Given the description of an element on the screen output the (x, y) to click on. 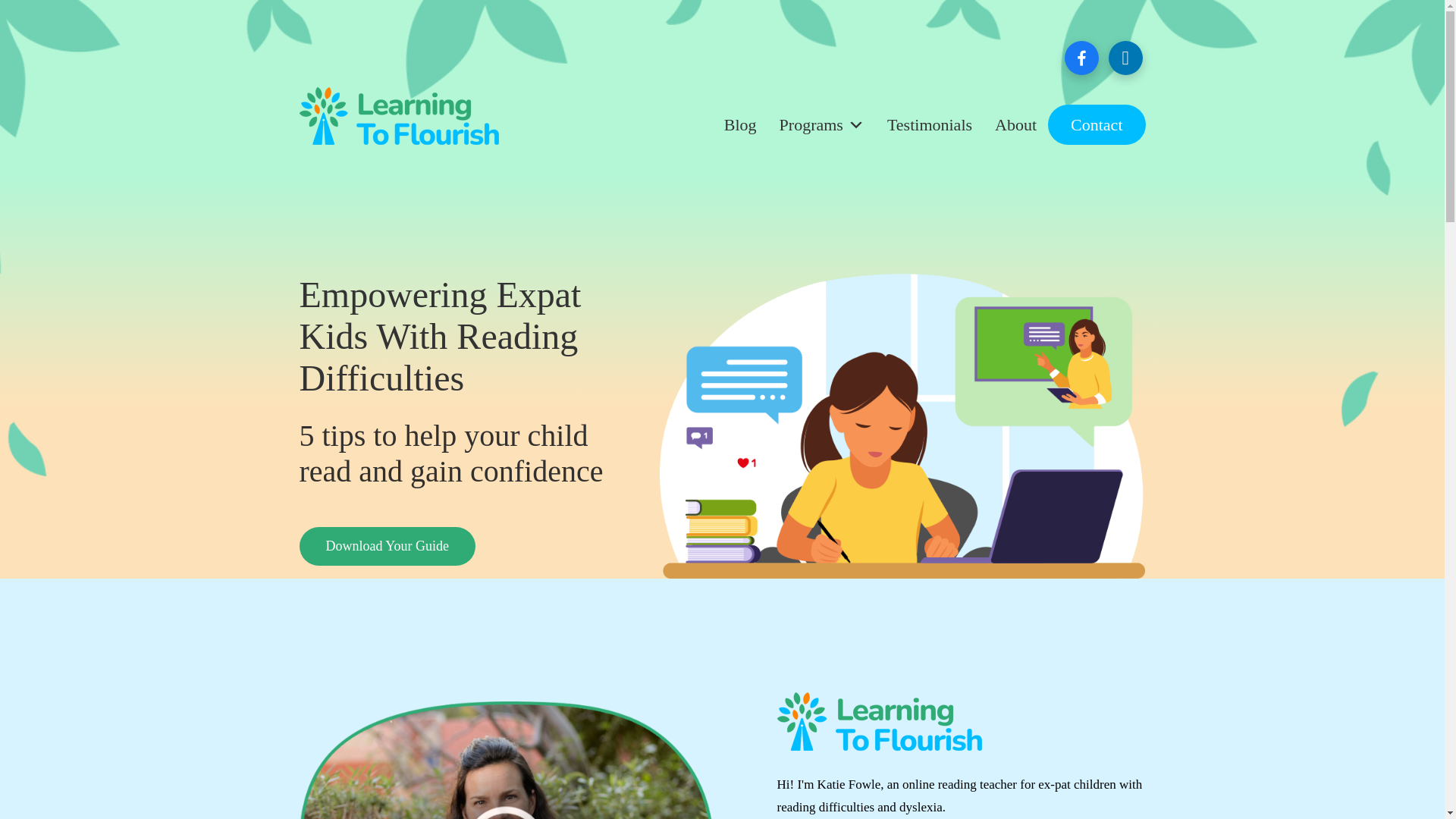
About (1016, 124)
Twitter (1125, 56)
Download Your Guide (387, 546)
facebook-alt (1081, 56)
Blog (740, 124)
linkedin (1125, 56)
Contact (1096, 124)
Facebook (1081, 56)
Testimonials (930, 124)
Programs (822, 124)
